Given the description of an element on the screen output the (x, y) to click on. 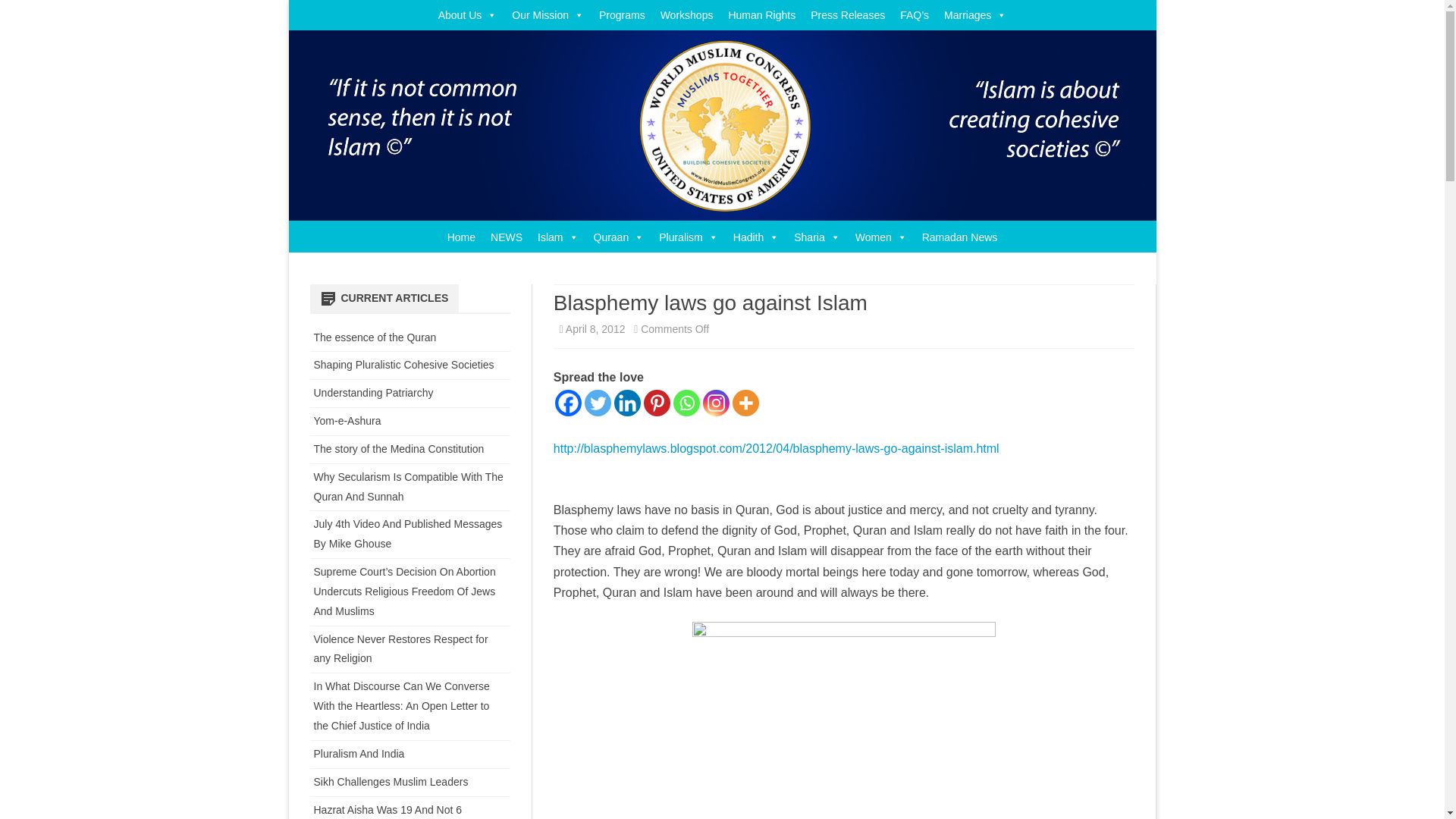
About Us (467, 15)
Human Rights (761, 15)
Twitter (598, 402)
Pinterest (656, 402)
Marriages (974, 15)
Workshops (686, 15)
Press Releases (847, 15)
Our Mission (547, 15)
Programs (621, 15)
